Given the description of an element on the screen output the (x, y) to click on. 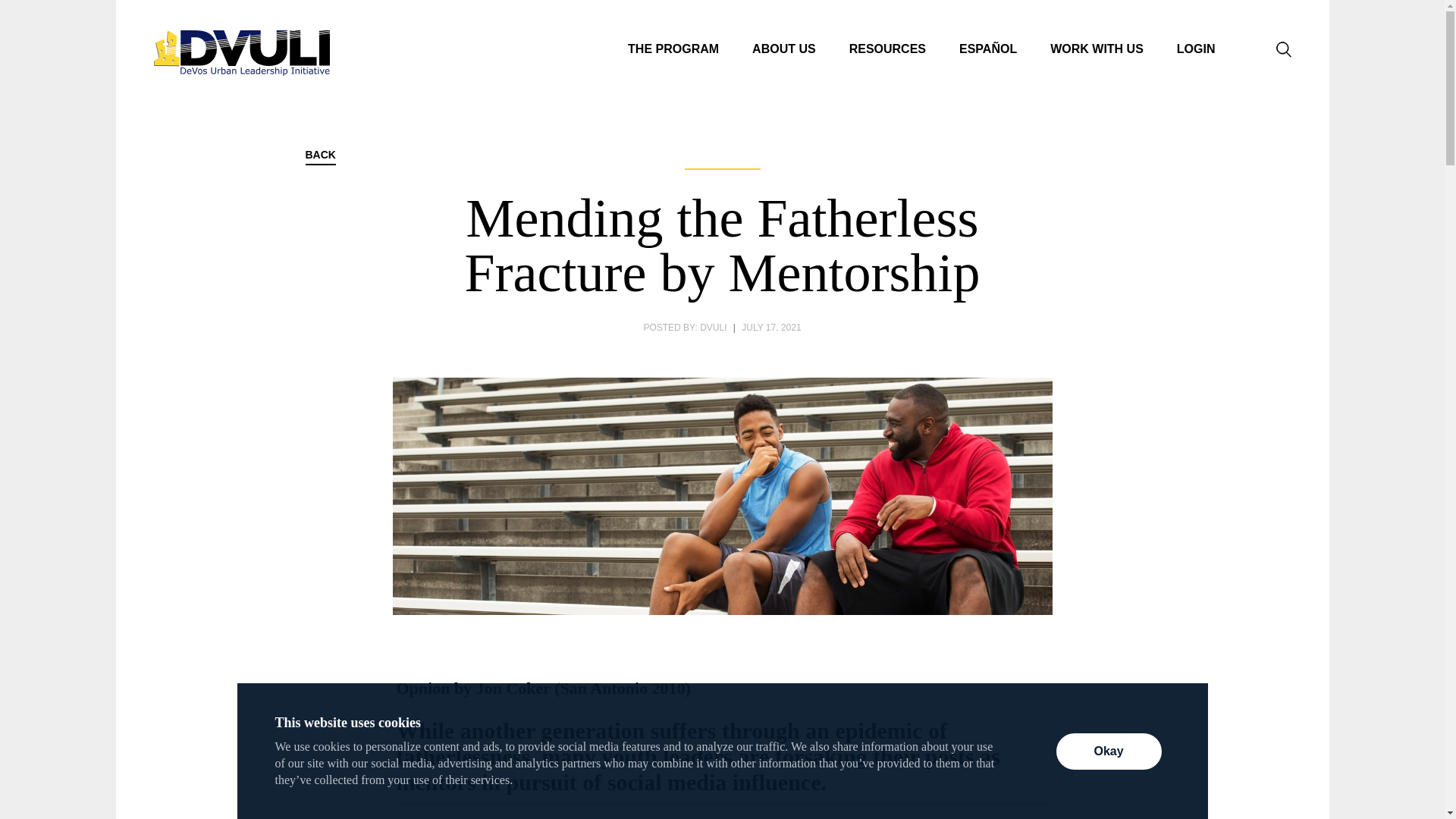
BACK (319, 157)
Search (1282, 49)
THE PROGRAM (673, 48)
Okay (1107, 750)
ABOUT US (783, 48)
LOGIN (1195, 48)
WORK WITH US (1095, 48)
RESOURCES (887, 48)
